Given the description of an element on the screen output the (x, y) to click on. 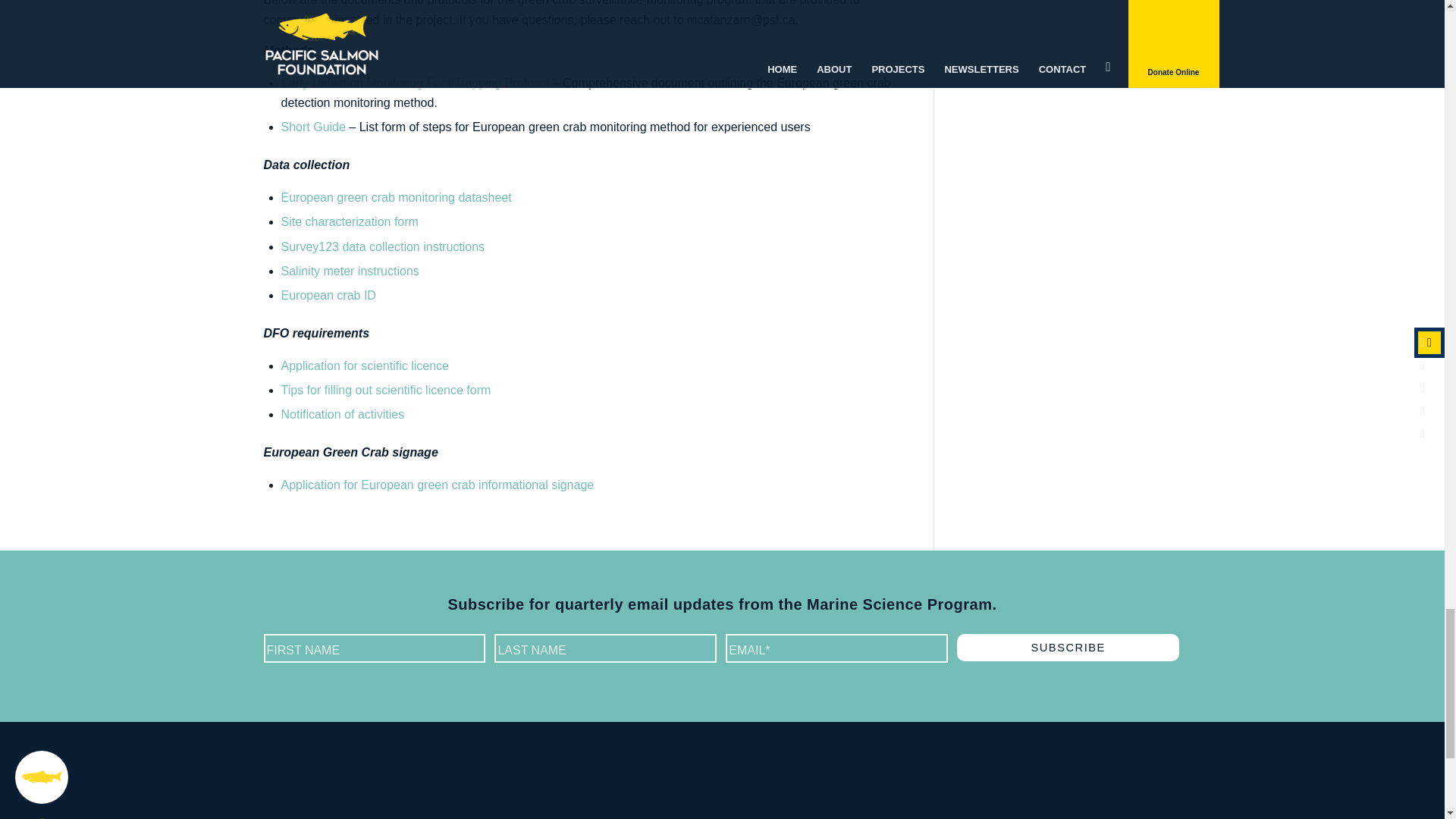
Early Detection Monitoring Foot Trapping Protocol (414, 82)
Subscribe (1067, 646)
Short Guide (313, 126)
